Given the description of an element on the screen output the (x, y) to click on. 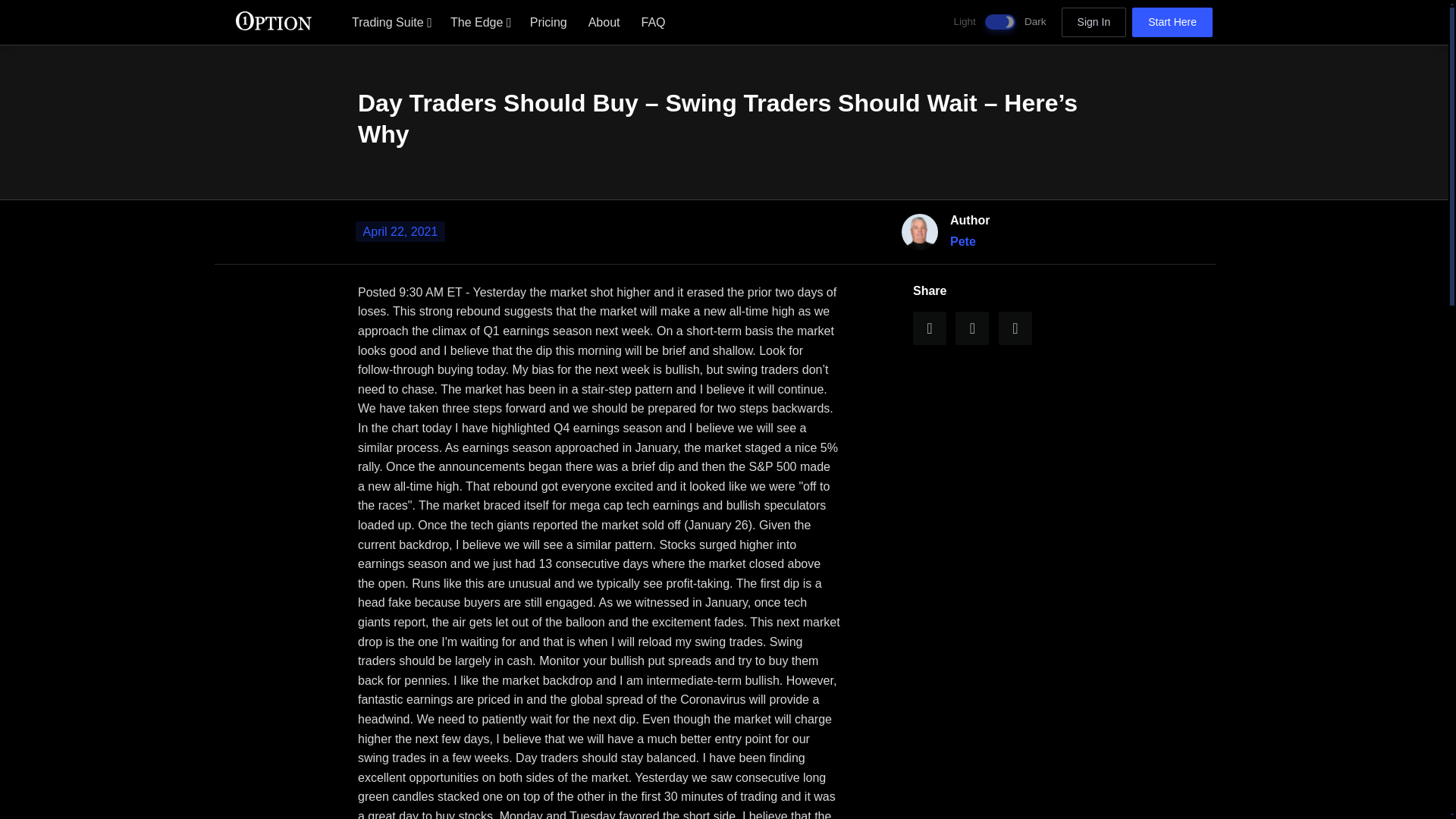
Start Here (1172, 22)
The Edge (479, 21)
Trading Suite (389, 21)
Sign In (1093, 22)
on (999, 21)
Pete (962, 241)
About (604, 21)
FAQ (653, 21)
Pricing (548, 21)
